Given the description of an element on the screen output the (x, y) to click on. 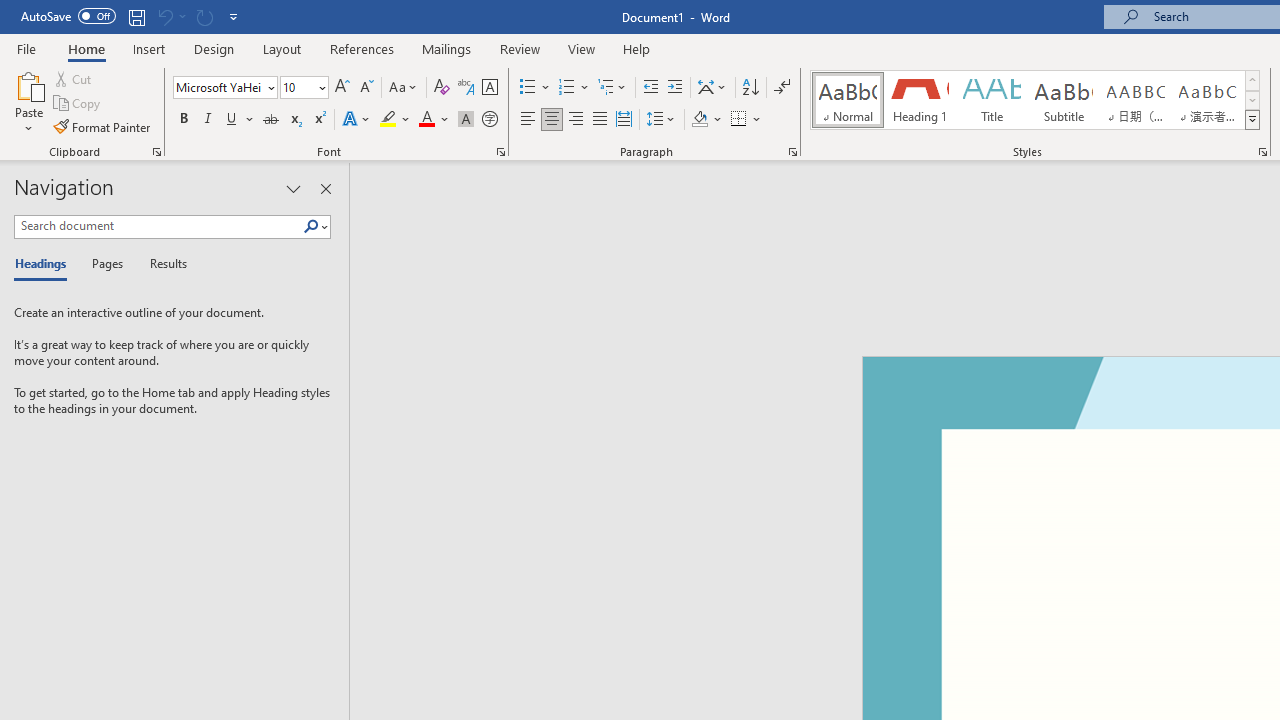
Subscript (294, 119)
Strikethrough (270, 119)
Text Effects and Typography (357, 119)
Text Highlight Color (395, 119)
Quick Access Toolbar (131, 16)
Clear Formatting (442, 87)
Styles (1252, 120)
Styles... (1262, 151)
Shrink Font (365, 87)
Heading 1 (920, 100)
Line and Paragraph Spacing (661, 119)
Open (320, 87)
